Given the description of an element on the screen output the (x, y) to click on. 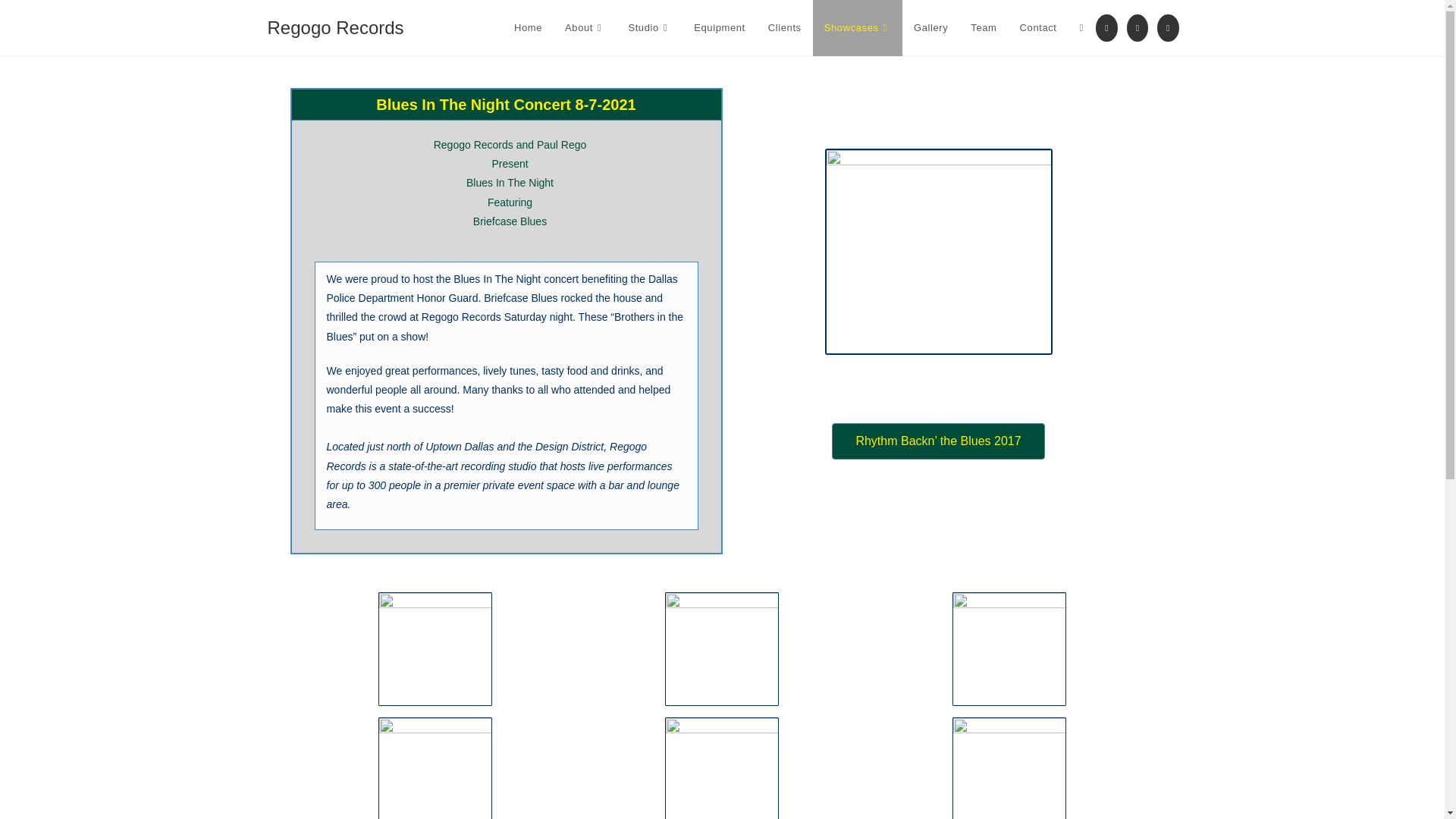
Showcases (857, 28)
Studio (648, 28)
About (584, 28)
Home (527, 28)
Clients (784, 28)
Gallery (930, 28)
Equipment (719, 28)
Regogo Records (334, 27)
Contact (1038, 28)
